Given the description of an element on the screen output the (x, y) to click on. 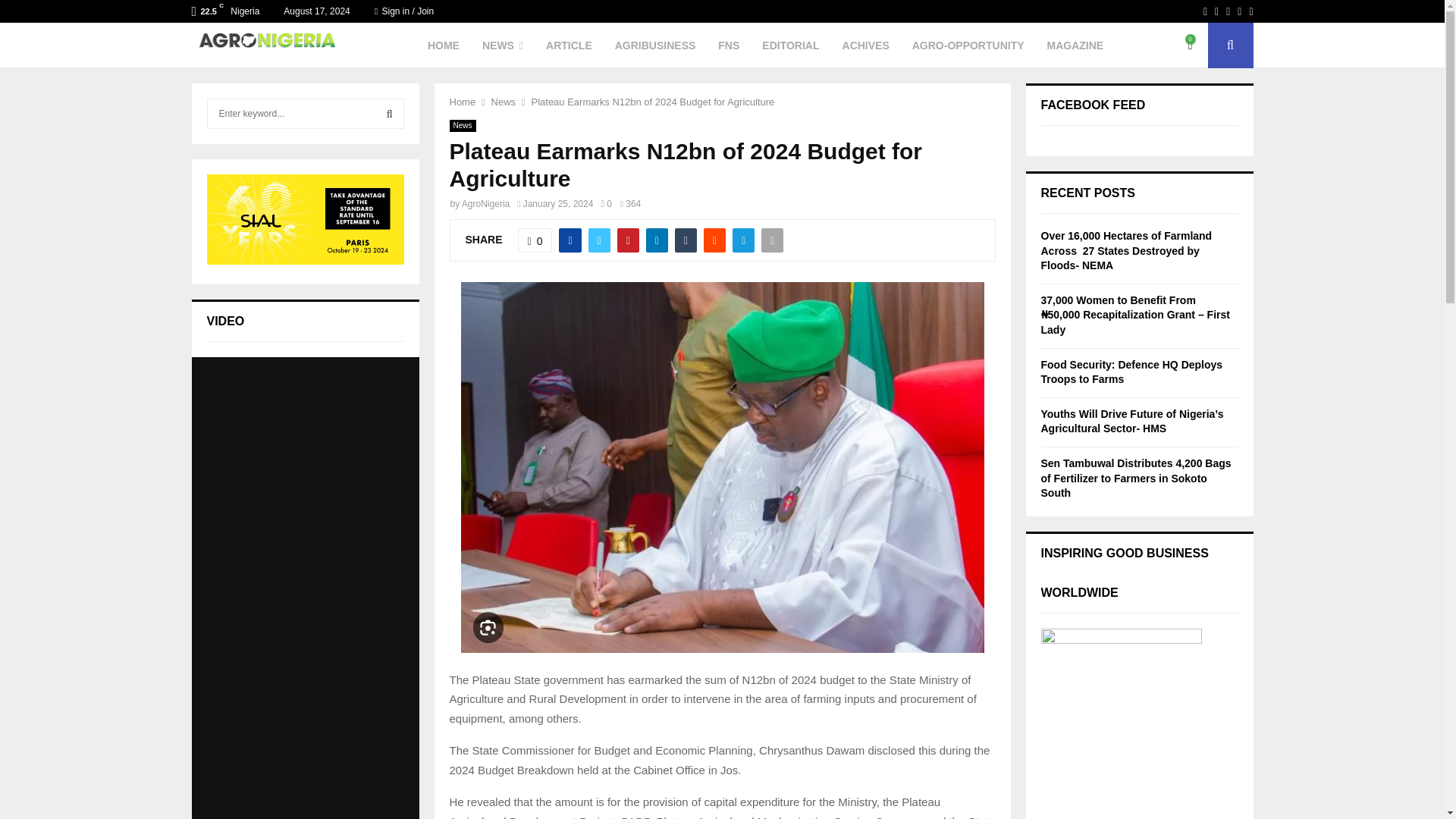
Like (535, 240)
MAGAZINE (1074, 44)
AGRO-OPPORTUNITY (968, 44)
0 (605, 204)
News (504, 101)
ARTICLE (569, 44)
Sign up new account (722, 415)
0 (535, 240)
Home (462, 101)
News (462, 125)
